Given the description of an element on the screen output the (x, y) to click on. 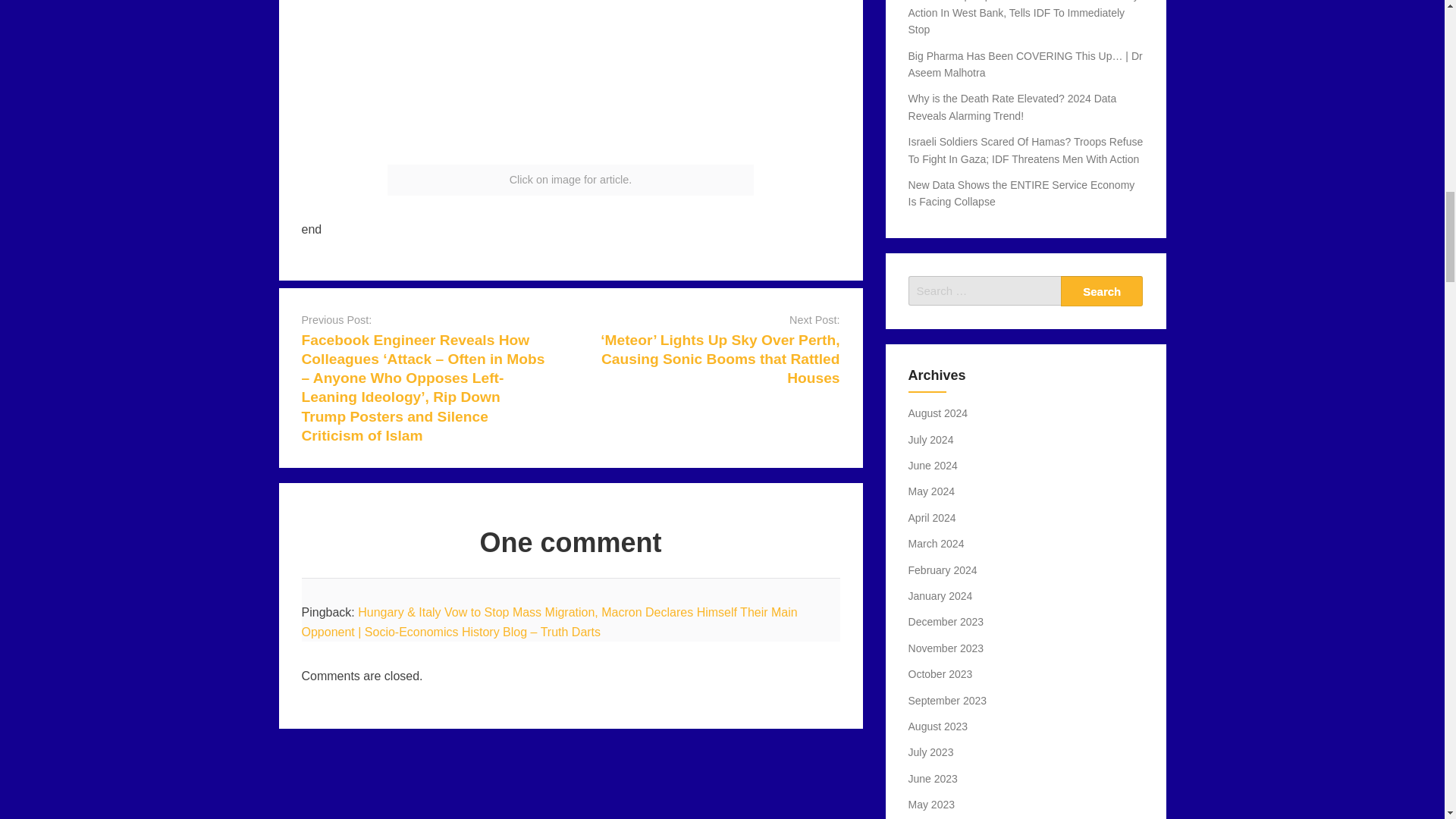
Search (1101, 291)
Search (1101, 291)
